Given the description of an element on the screen output the (x, y) to click on. 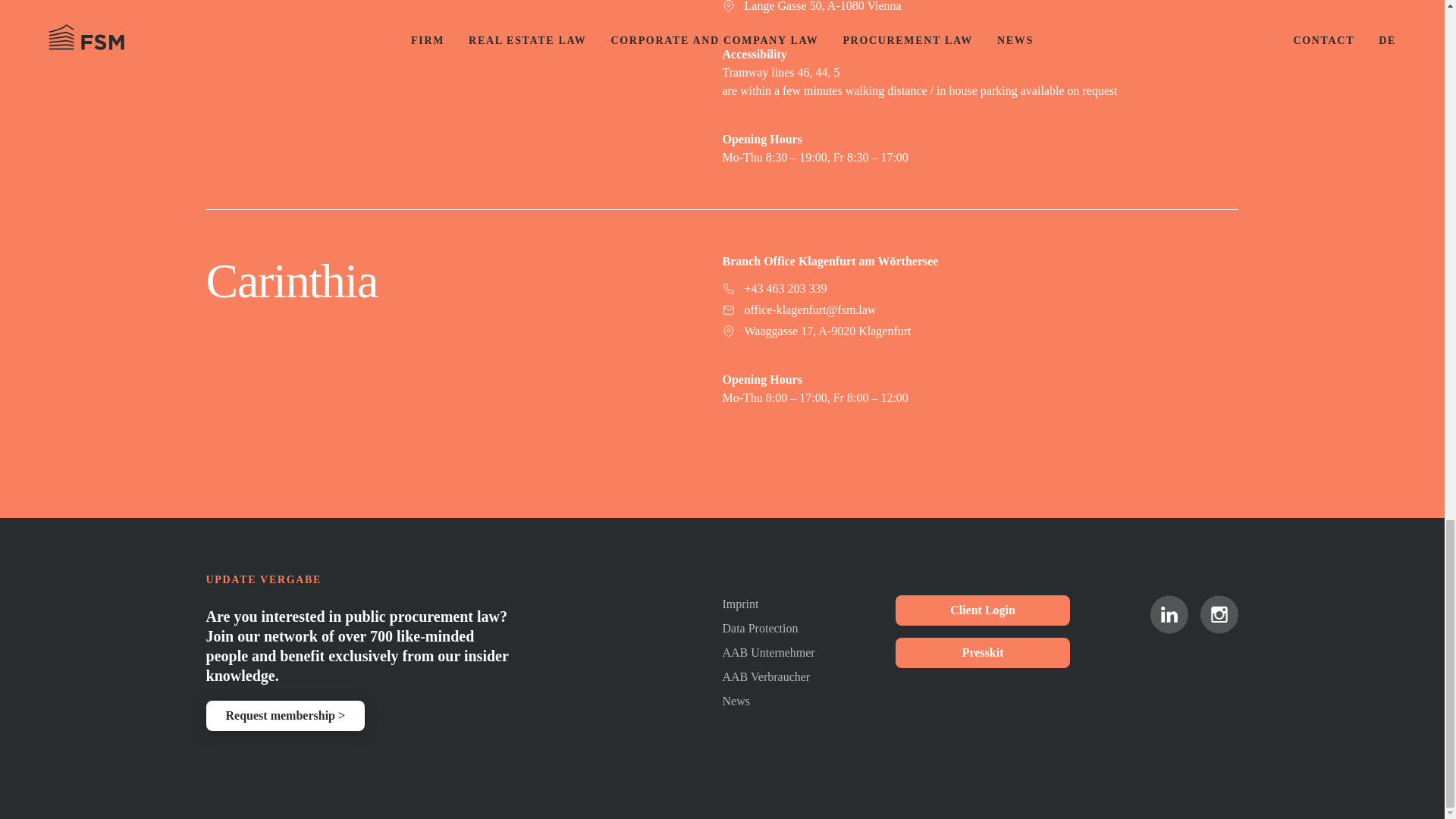
Lange Gasse 50, A-1080 Vienna (980, 7)
